Given the description of an element on the screen output the (x, y) to click on. 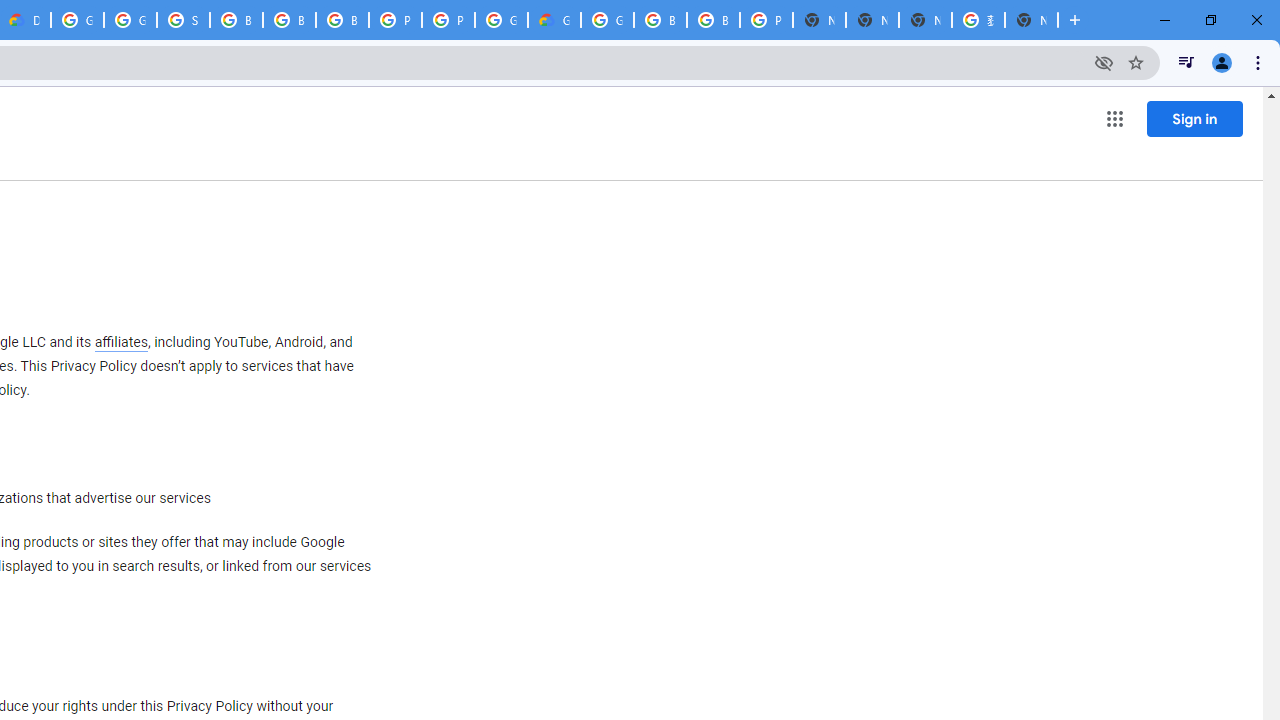
Google Cloud Platform (607, 20)
New Tab (1031, 20)
New Tab (819, 20)
Browse Chrome as a guest - Computer - Google Chrome Help (235, 20)
